Given the description of an element on the screen output the (x, y) to click on. 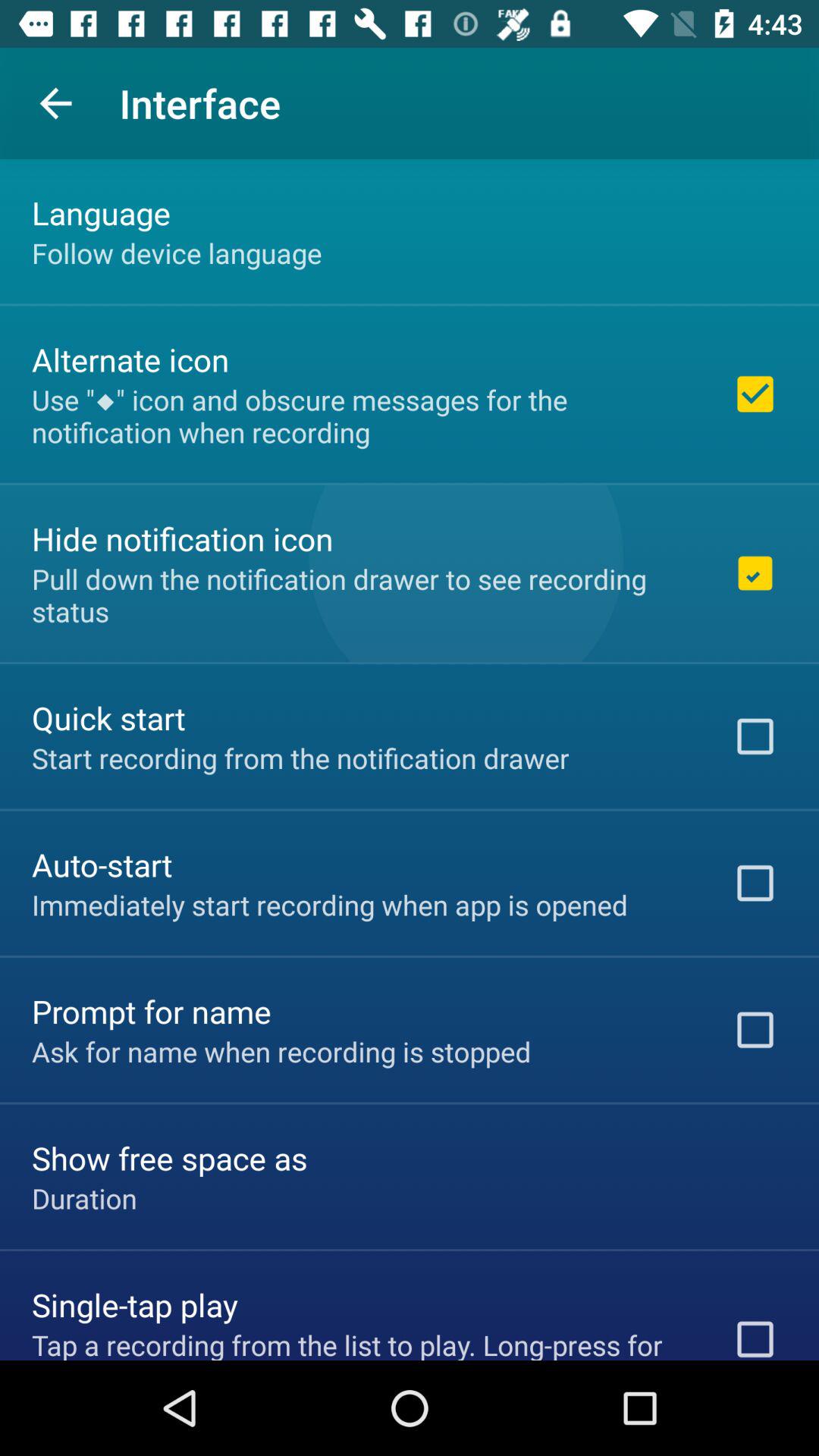
swipe until auto-start item (101, 864)
